Given the description of an element on the screen output the (x, y) to click on. 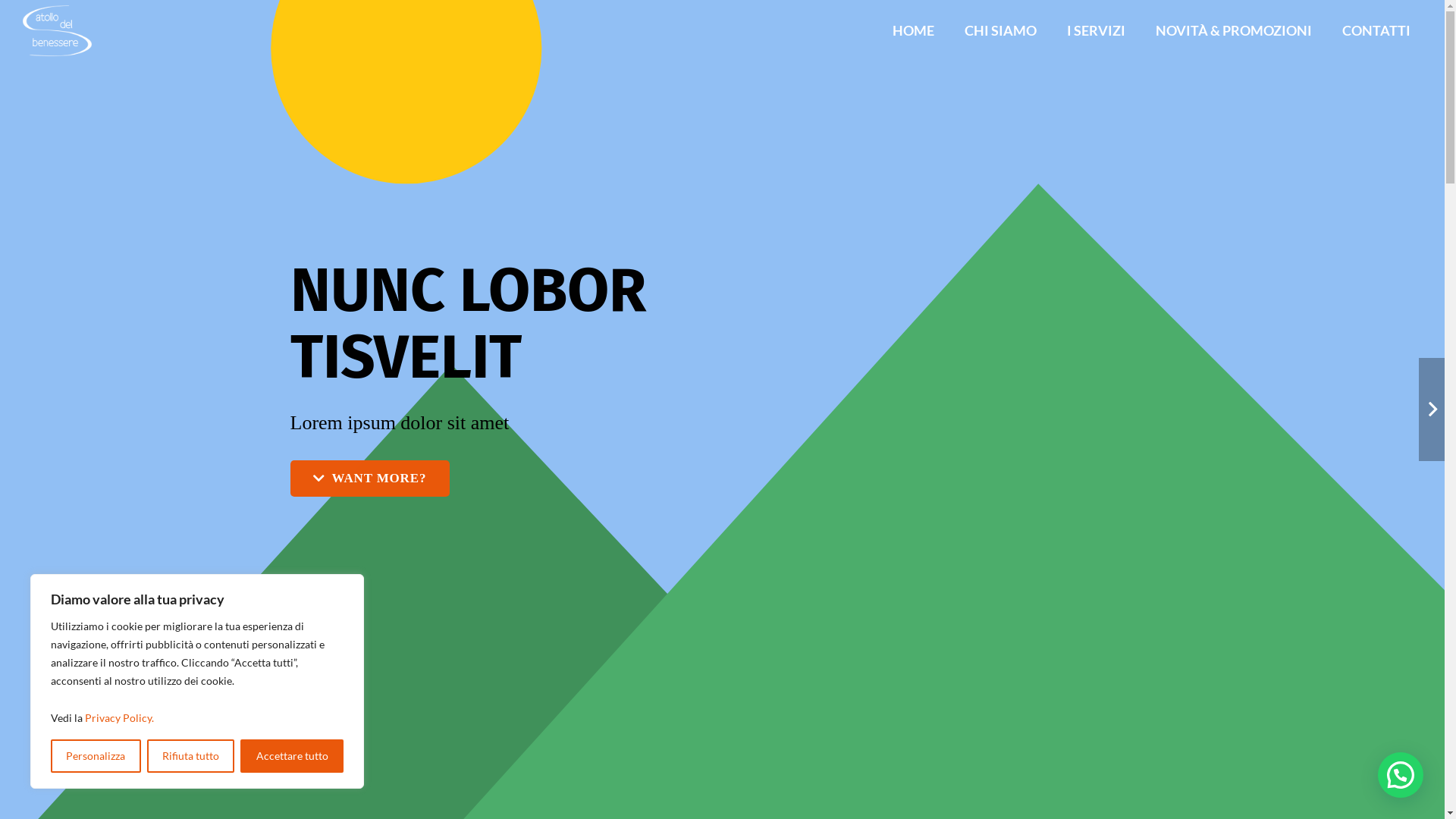
Accettare tutto Element type: text (291, 755)
Rifiuta tutto Element type: text (191, 755)
WANT MORE? Element type: text (368, 478)
CHI SIAMO Element type: text (1000, 30)
Personalizza Element type: text (95, 755)
I SERVIZI Element type: text (1095, 30)
CONTATTI Element type: text (1376, 30)
HOME Element type: text (913, 30)
Privacy Policy. Element type: text (118, 717)
